Given the description of an element on the screen output the (x, y) to click on. 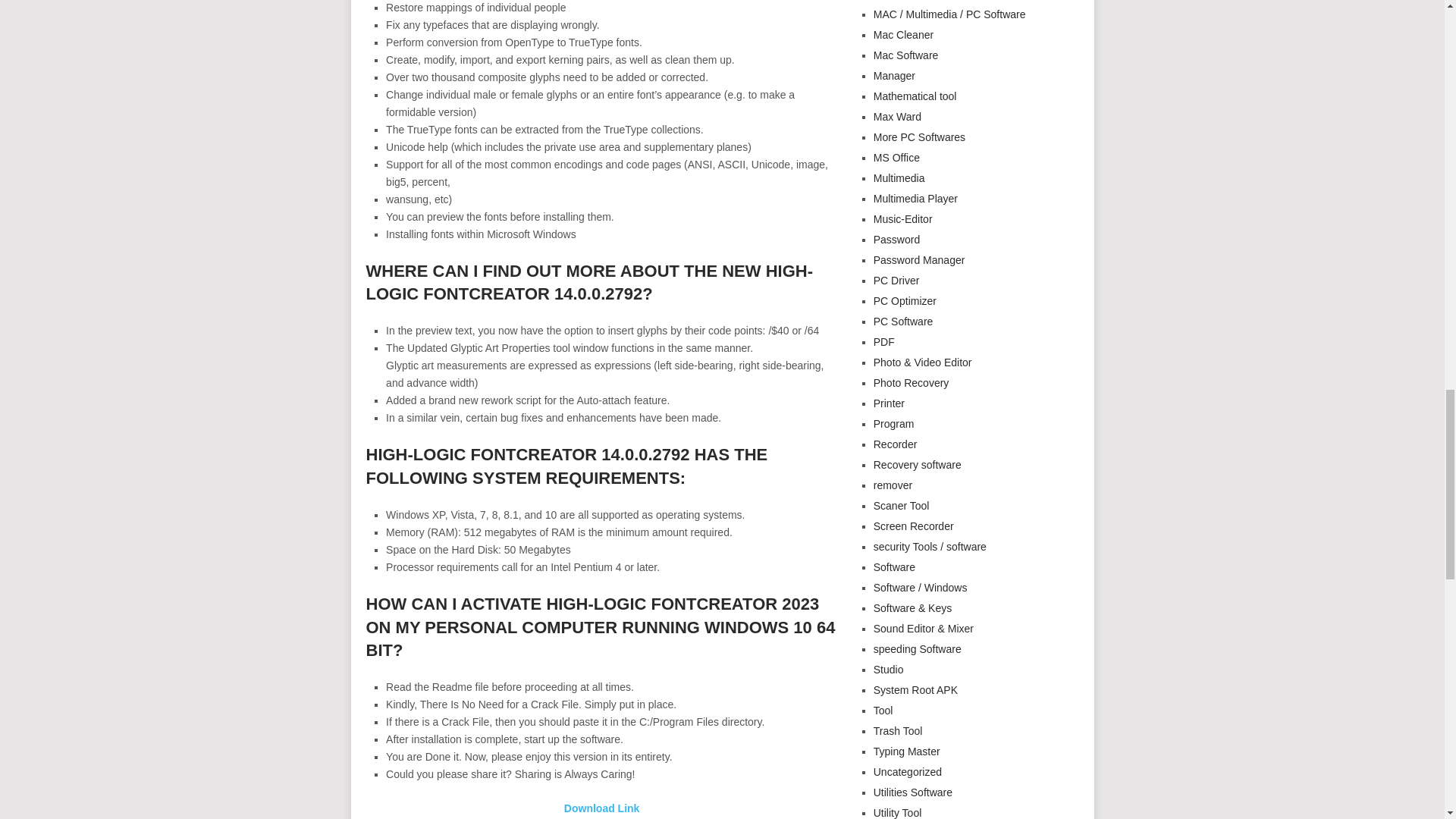
Download Link (602, 808)
